Given the description of an element on the screen output the (x, y) to click on. 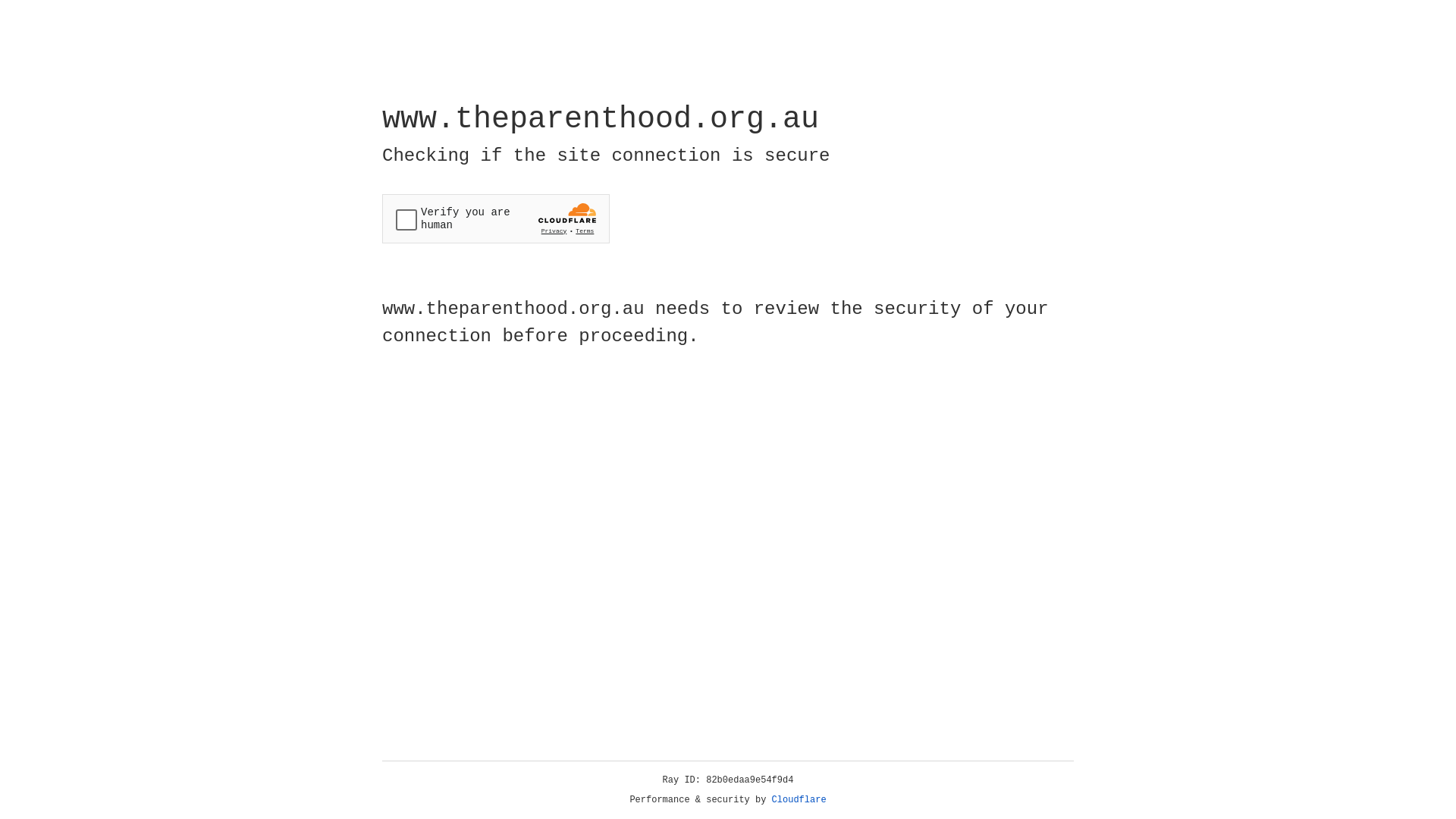
Widget containing a Cloudflare security challenge Element type: hover (495, 218)
Cloudflare Element type: text (798, 799)
